Given the description of an element on the screen output the (x, y) to click on. 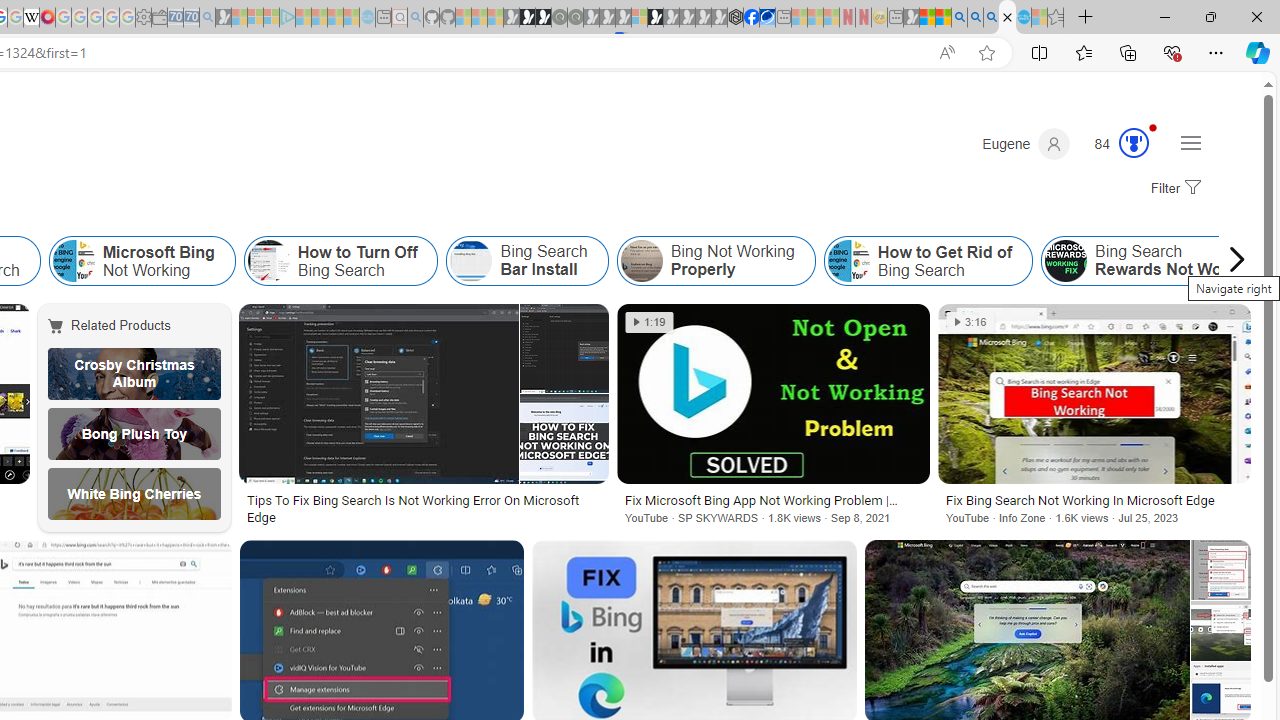
Home | Sky Blue Bikes - Sky Blue Bikes - Sleeping (367, 17)
Scroll right (1231, 260)
Bing Search Bar Install (471, 260)
Bing AI - Search (959, 17)
3:16 (969, 322)
Fix Bing Search Not Working In Microsoft Edge (1093, 500)
Image result for Bing Search Not Working (1094, 393)
MediaWiki (47, 17)
Image result for Bing Search Not Working (1220, 630)
